Given the description of an element on the screen output the (x, y) to click on. 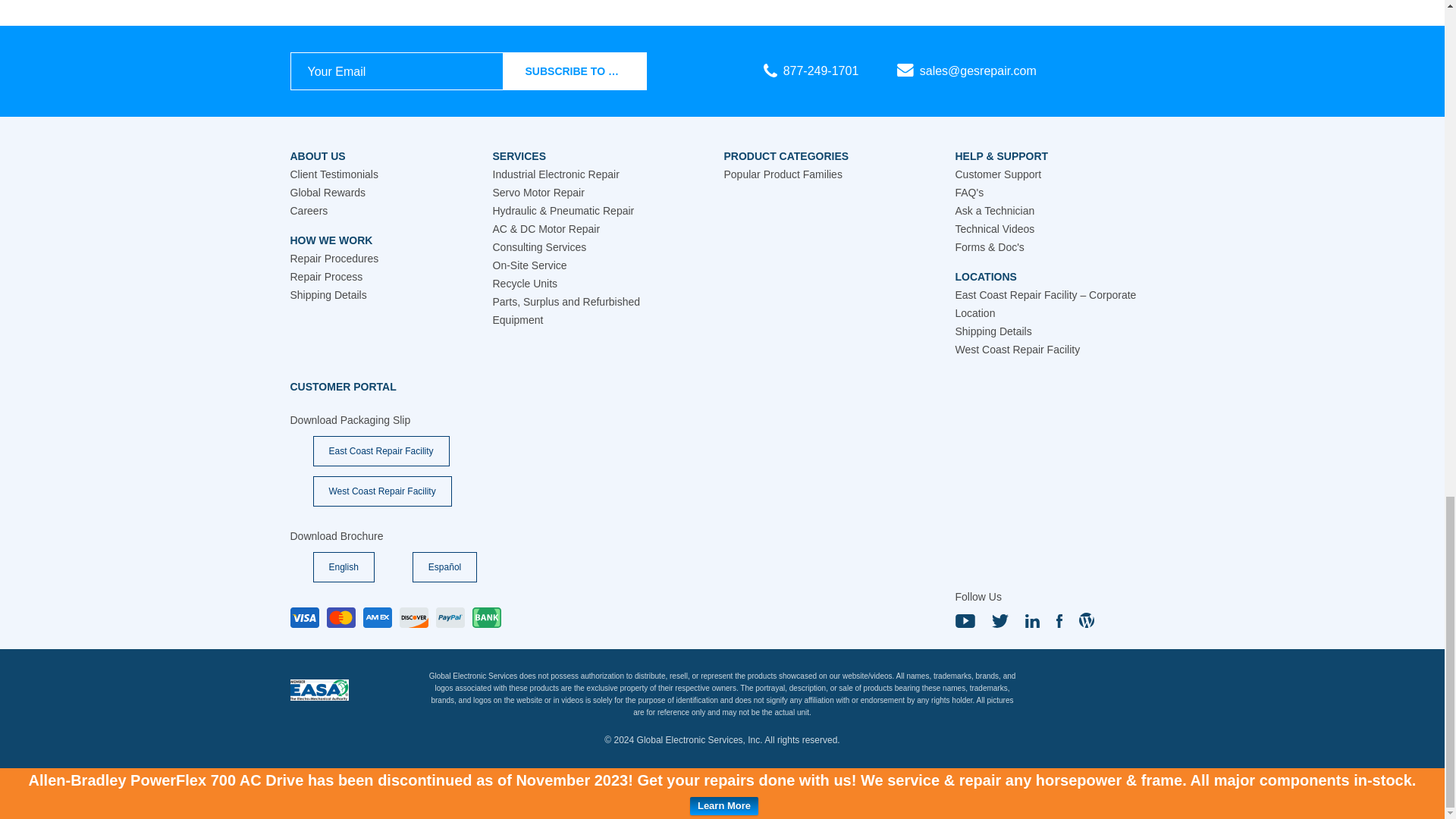
Opens in a new window (342, 386)
